Given the description of an element on the screen output the (x, y) to click on. 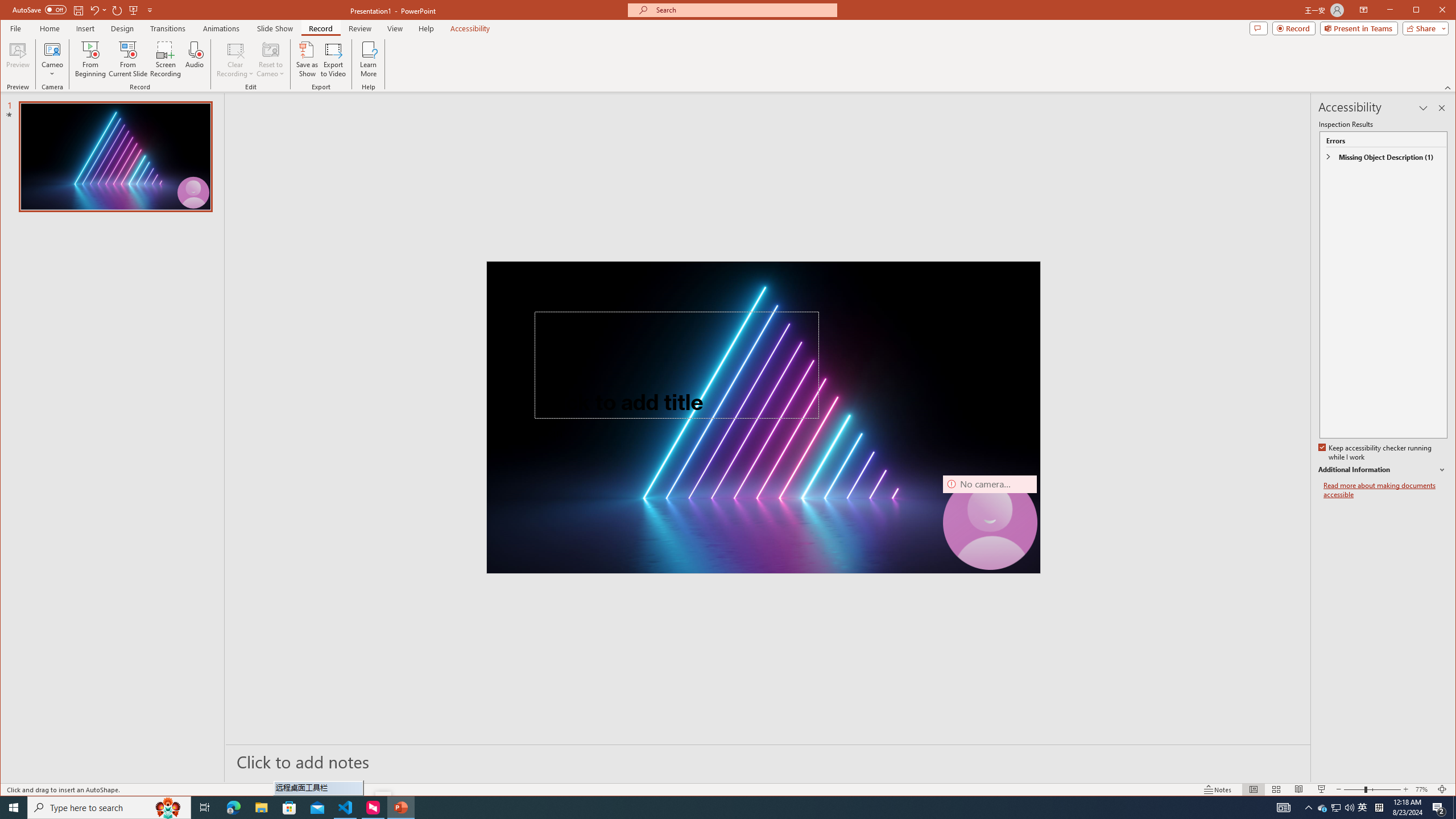
Microsoft Edge (233, 807)
Maximize (1432, 11)
Tray Input Indicator - Chinese (Simplified, China) (1378, 807)
From Beginning... (90, 59)
Preview (17, 59)
Zoom 77% (1422, 789)
Task View (204, 807)
